Given the description of an element on the screen output the (x, y) to click on. 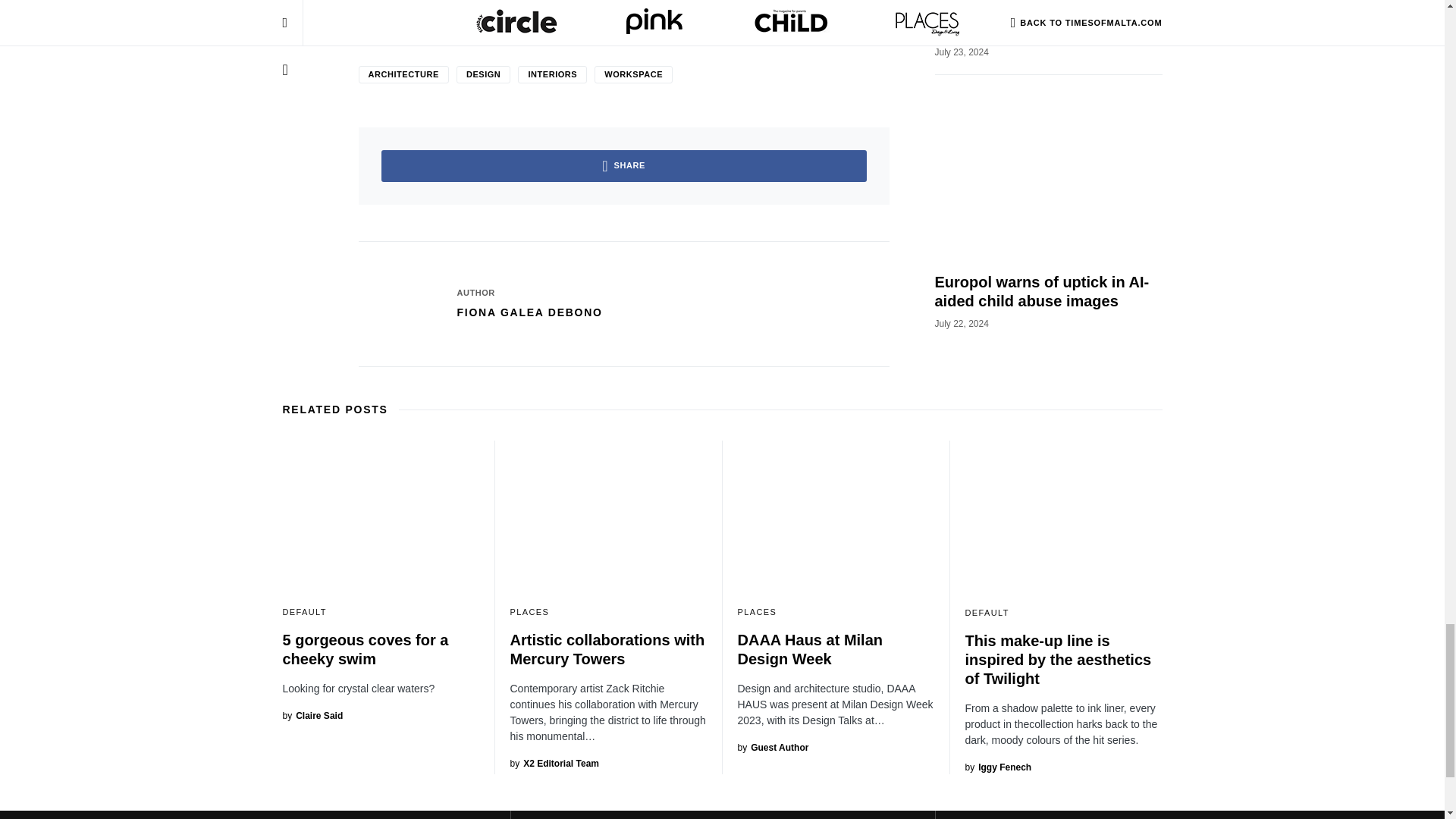
View all posts by Claire Said (312, 715)
View all posts by Guest Author (772, 747)
View all posts by Iggy Fenech (996, 766)
View all posts by X2 Editorial Team (553, 763)
